Given the description of an element on the screen output the (x, y) to click on. 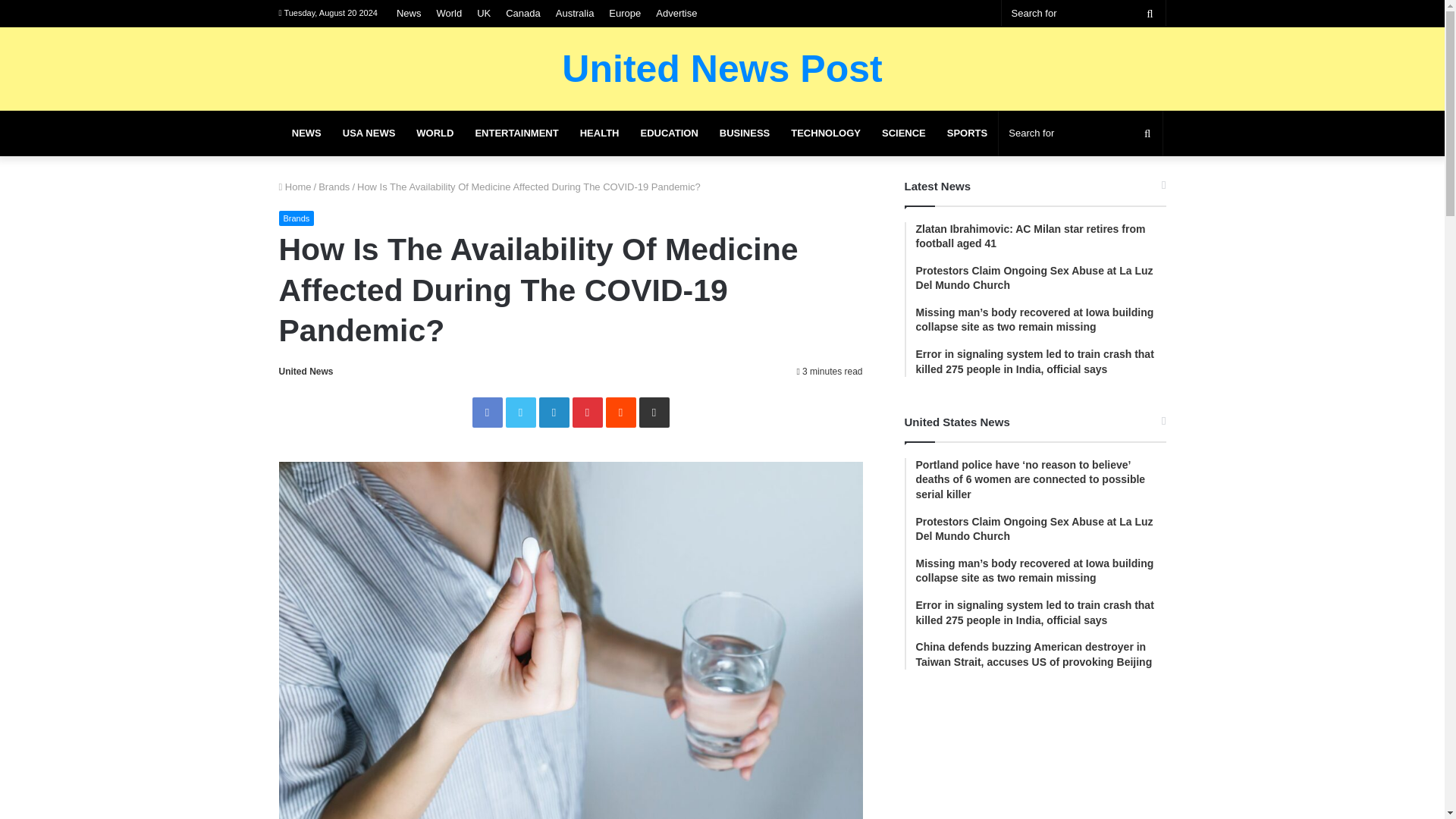
Europe (624, 13)
Brands (296, 218)
SPORTS (966, 133)
Advertise (675, 13)
Home (295, 186)
LinkedIn (553, 412)
Reddit (619, 412)
BUSINESS (744, 133)
USA NEWS (368, 133)
Search for (1079, 133)
